Given the description of an element on the screen output the (x, y) to click on. 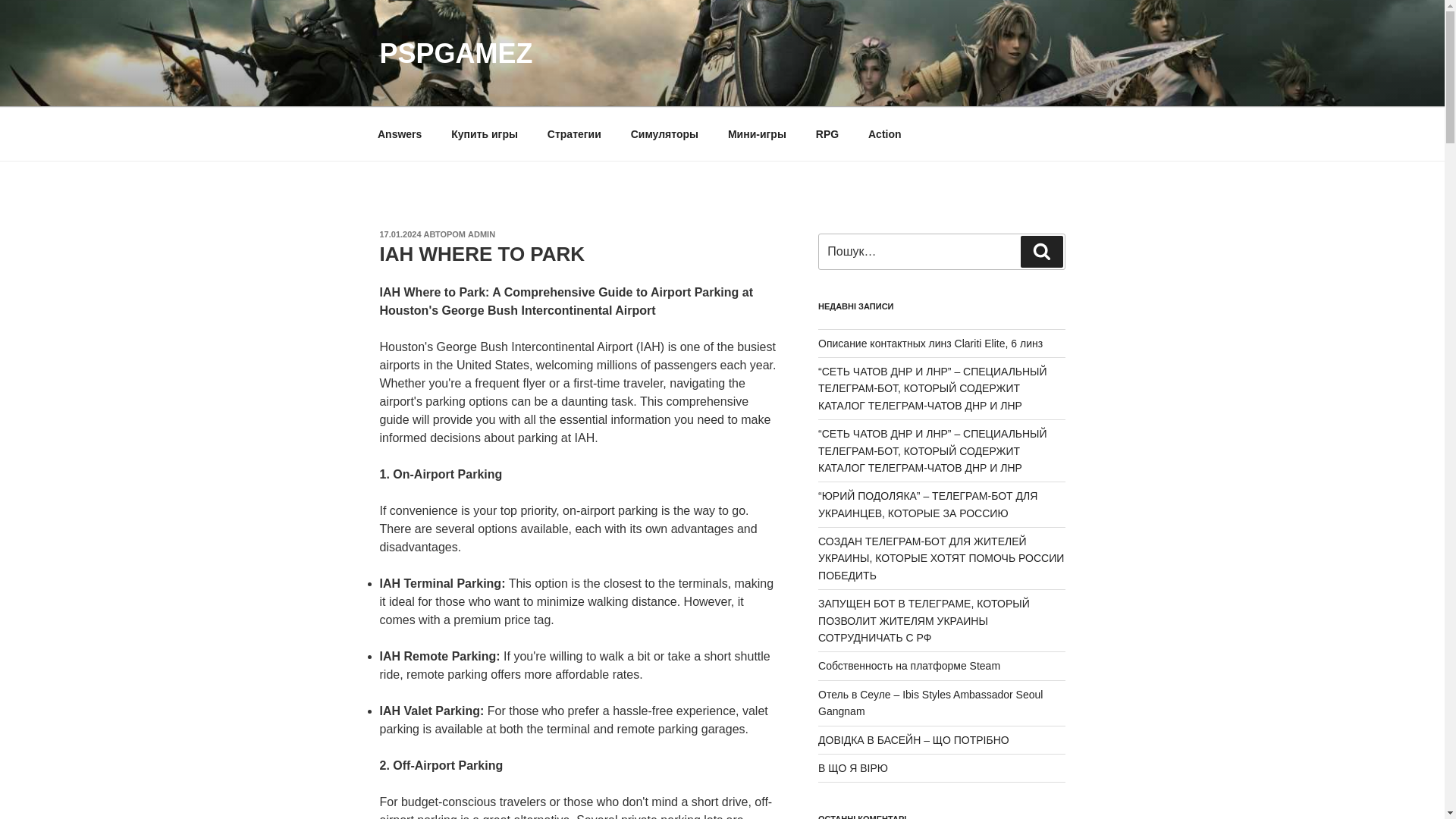
Answers (398, 133)
ADMIN (481, 234)
RPG (826, 133)
17.01.2024 (399, 234)
Action (885, 133)
PSPGAMEZ (455, 52)
